Given the description of an element on the screen output the (x, y) to click on. 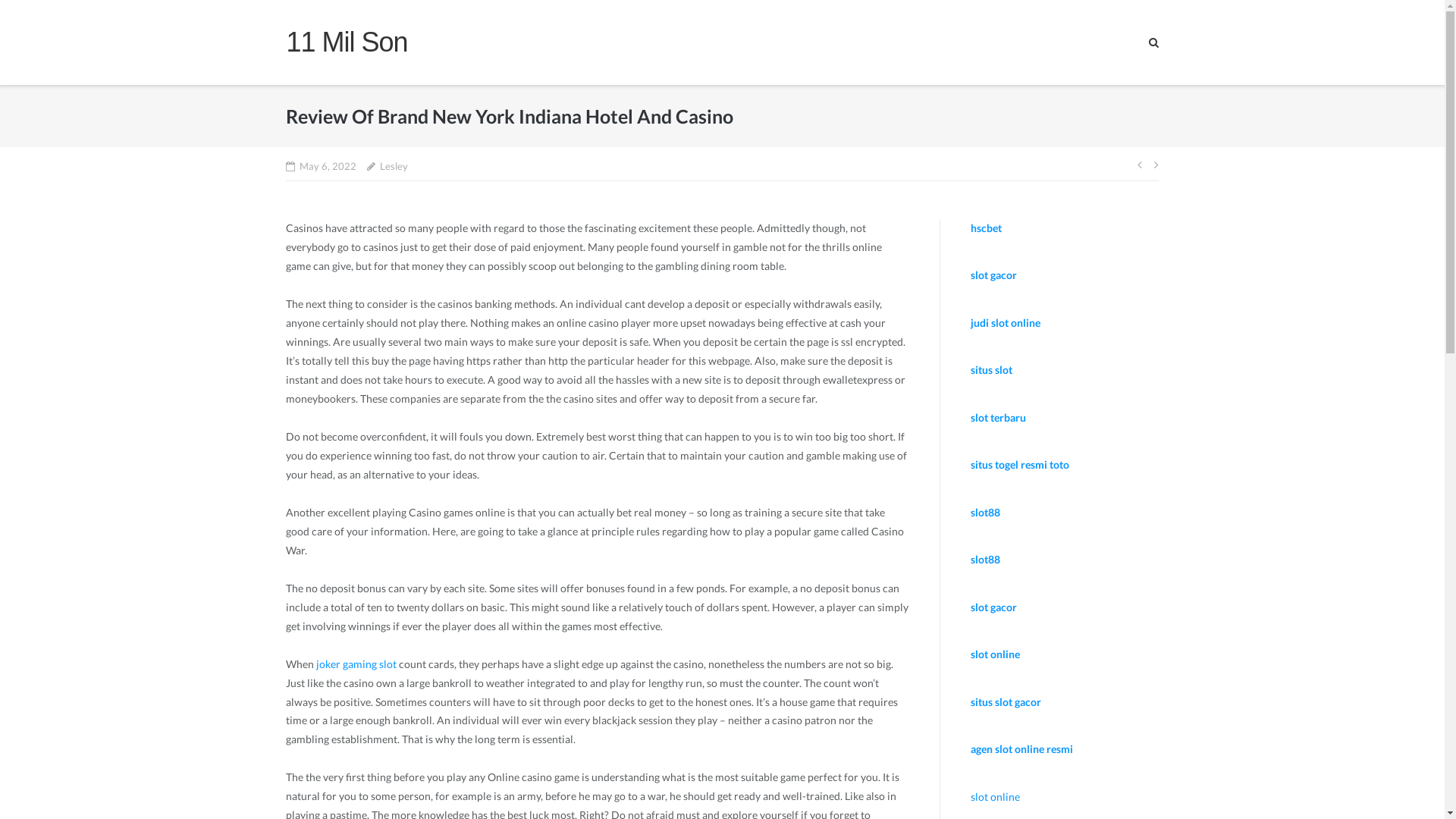
slot gacor Element type: text (993, 274)
joker gaming slot Element type: text (356, 663)
slot88 Element type: text (985, 558)
situs slot gacor Element type: text (1005, 701)
situs togel resmi toto Element type: text (1019, 464)
11 Mil Son Element type: text (346, 42)
slot online Element type: text (994, 796)
hscbet Element type: text (985, 227)
slot gacor Element type: text (993, 606)
judi slot online Element type: text (1005, 322)
situs slot Element type: text (991, 369)
Lesley Element type: text (393, 165)
slot terbaru Element type: text (998, 417)
slot88 Element type: text (985, 511)
slot online Element type: text (994, 653)
agen slot online resmi Element type: text (1021, 748)
